Given the description of an element on the screen output the (x, y) to click on. 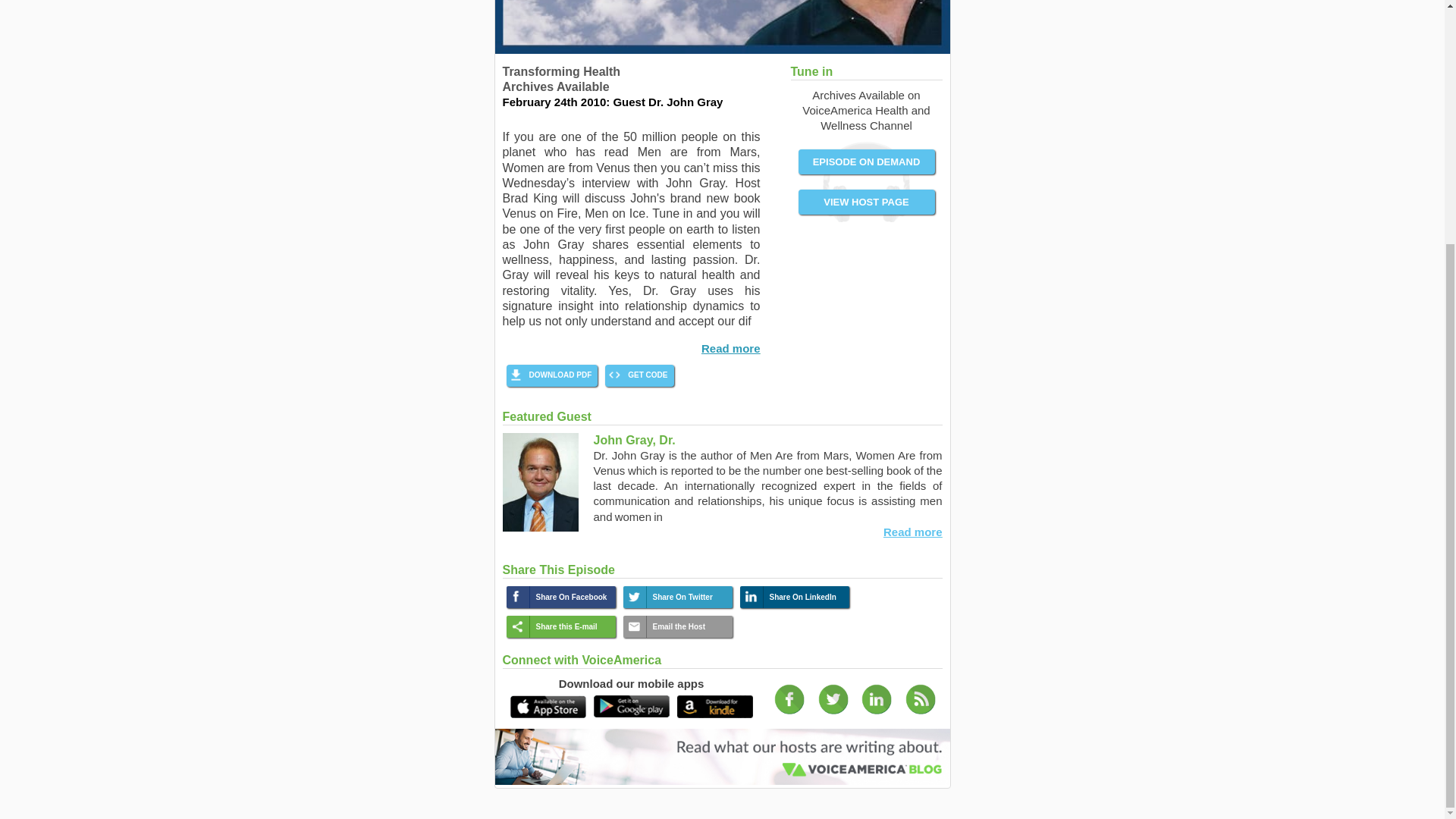
EPISODE ON DEMAND (865, 162)
VIEW HOST PAGE (865, 202)
Email the Host (688, 626)
Share this E-mail (571, 626)
Share On Twitter (688, 597)
Share On Facebook (571, 597)
GET CODE (646, 375)
Read more (912, 531)
DOWNLOAD PDF (560, 375)
Read more (730, 348)
Share On LinkedIn (805, 597)
